Given the description of an element on the screen output the (x, y) to click on. 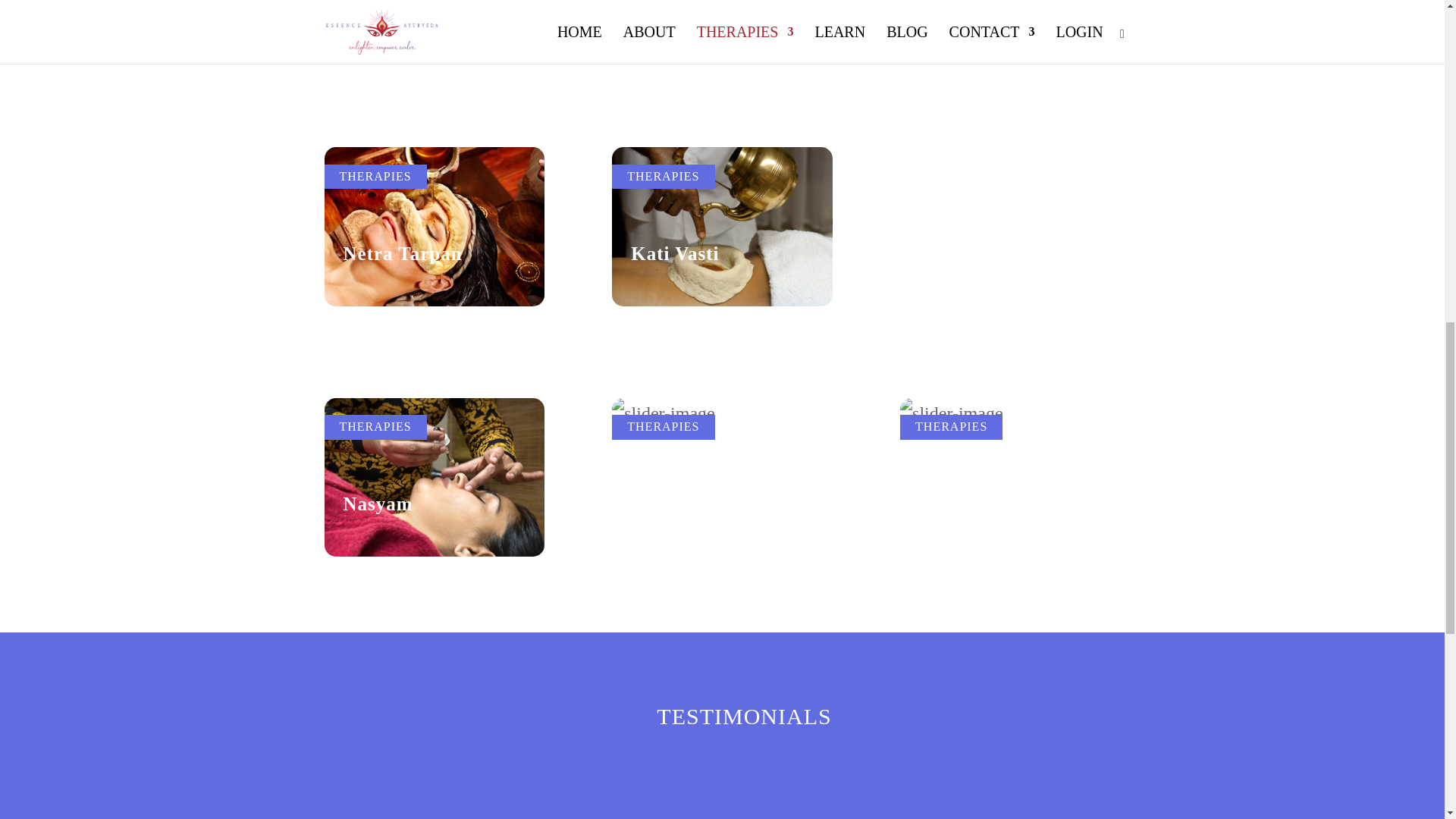
Nasyam (377, 503)
Netra Tarpan (401, 253)
Pinda Sweda (975, 365)
Kati Vasti (674, 253)
Shirodhara (680, 365)
